Given the description of an element on the screen output the (x, y) to click on. 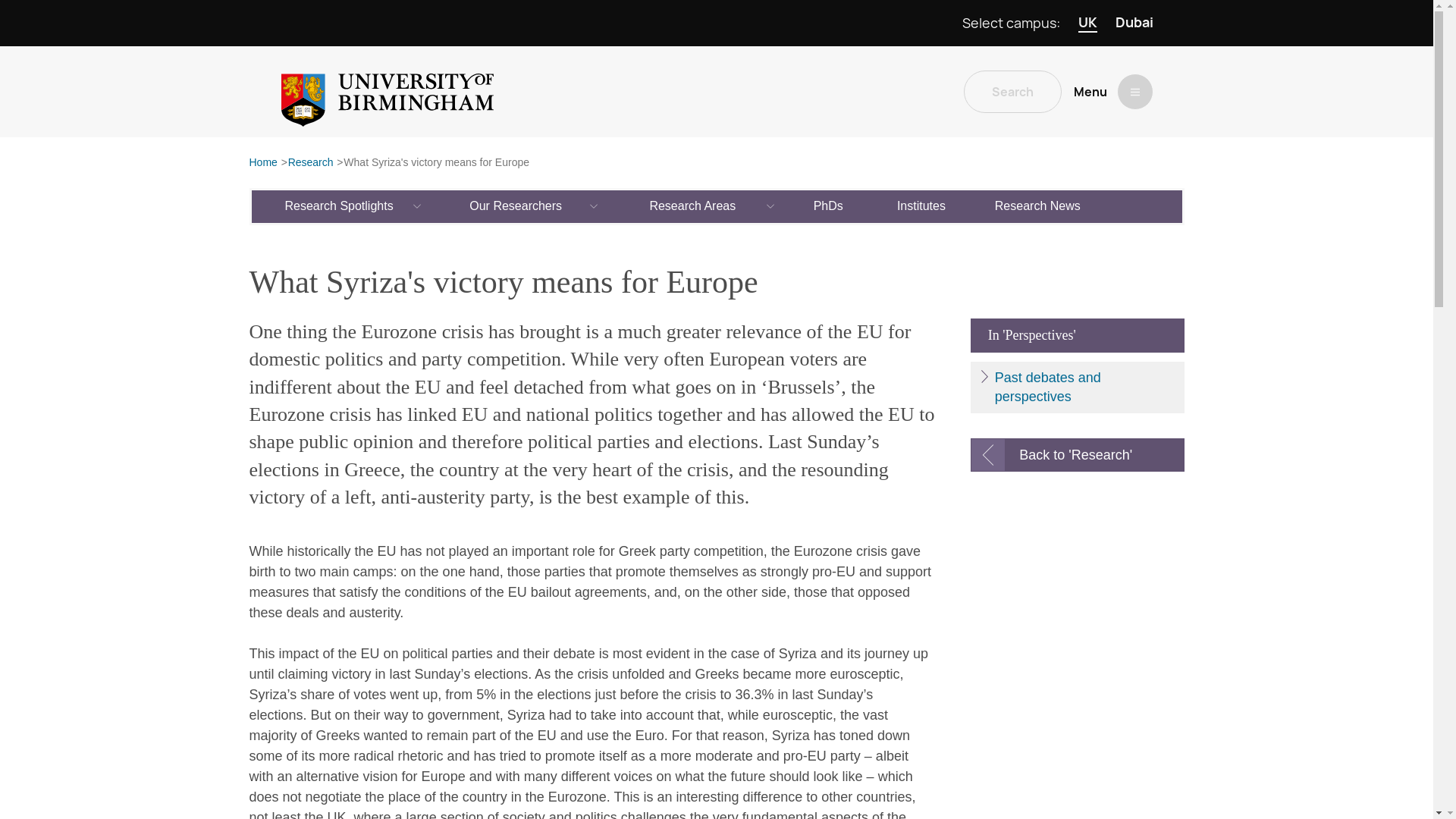
Home (262, 163)
Research (310, 163)
Search (1012, 91)
Research Areas (693, 205)
Research Spotlights (339, 205)
Our Researchers (516, 205)
What Syriza's victory means for Europe (436, 163)
Dubai (1134, 23)
UK (1087, 23)
